Given the description of an element on the screen output the (x, y) to click on. 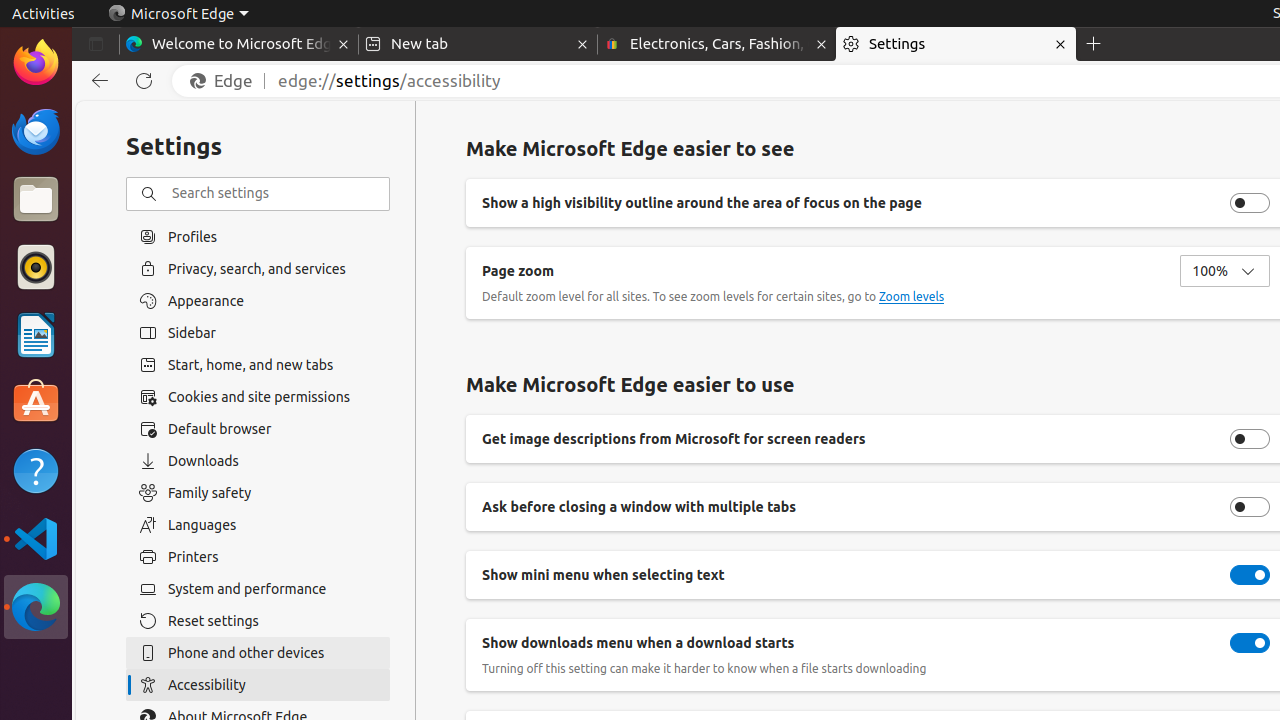
Show mini menu when selecting text Element type: check-box (1250, 575)
Refresh Element type: push-button (144, 81)
New tab Element type: page-tab (478, 44)
Visual Studio Code Element type: push-button (36, 538)
Thunderbird Mail Element type: push-button (36, 131)
